Given the description of an element on the screen output the (x, y) to click on. 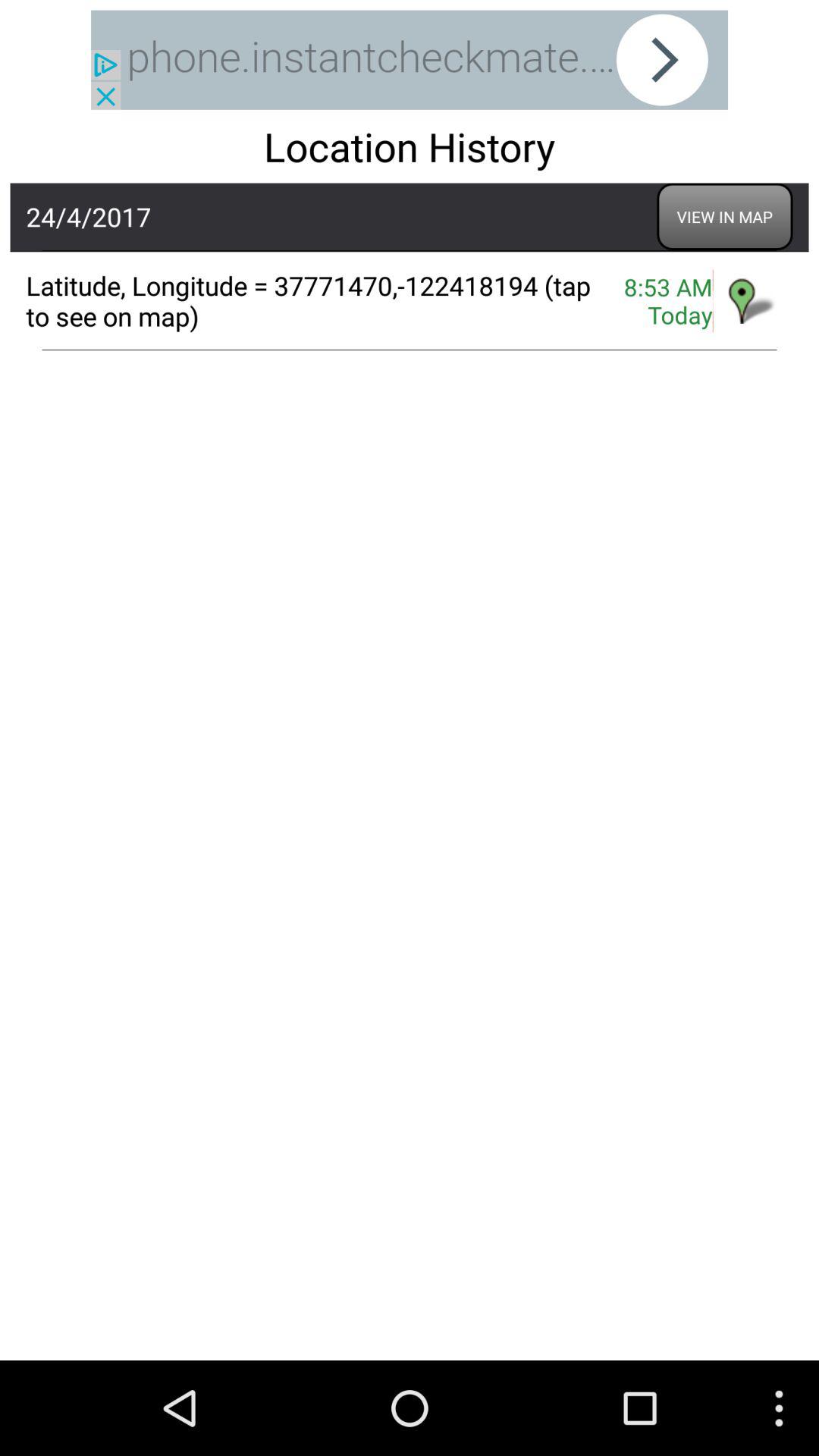
advertisement (409, 59)
